Given the description of an element on the screen output the (x, y) to click on. 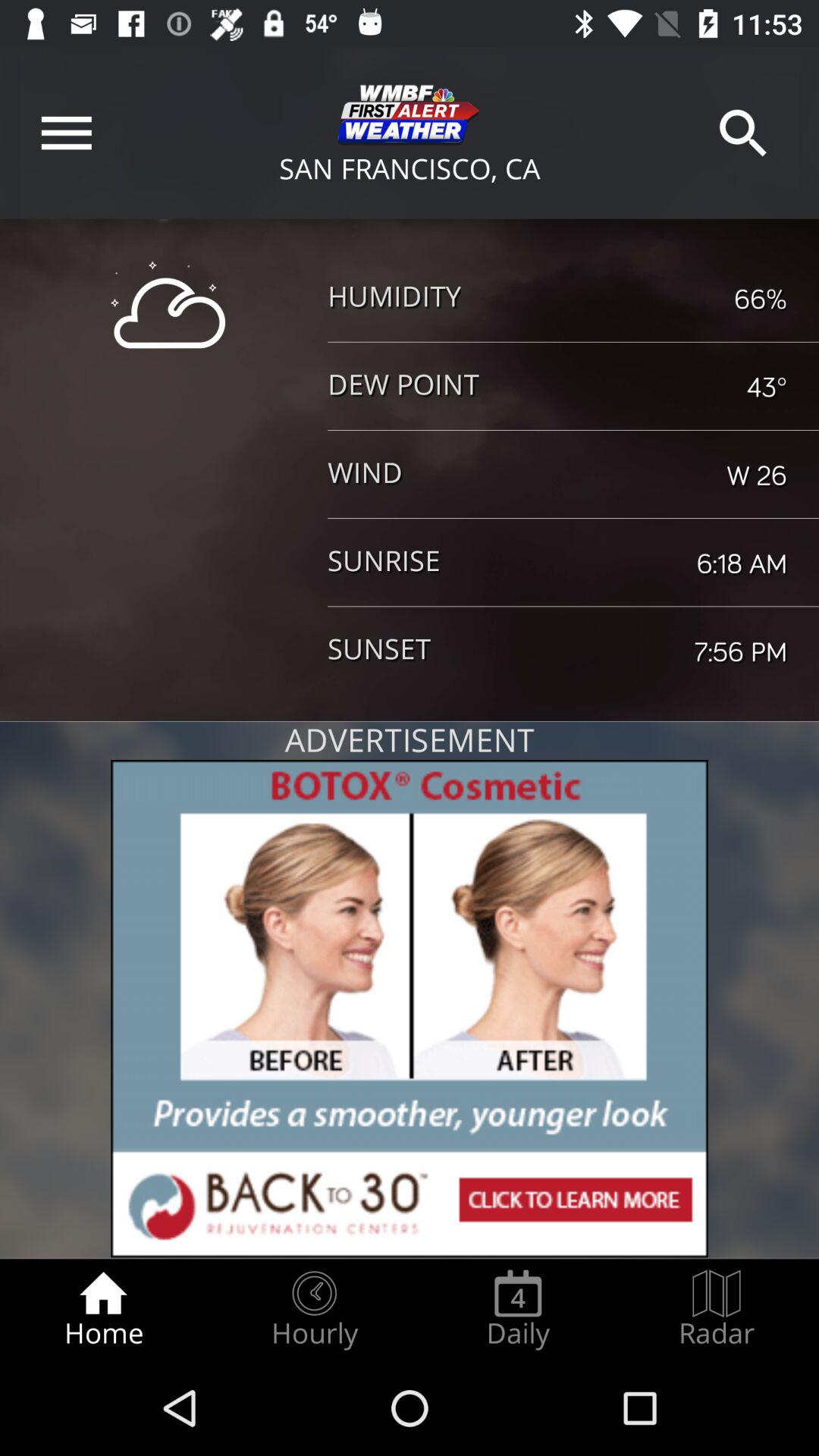
turn on the icon to the right of the home radio button (314, 1309)
